Given the description of an element on the screen output the (x, y) to click on. 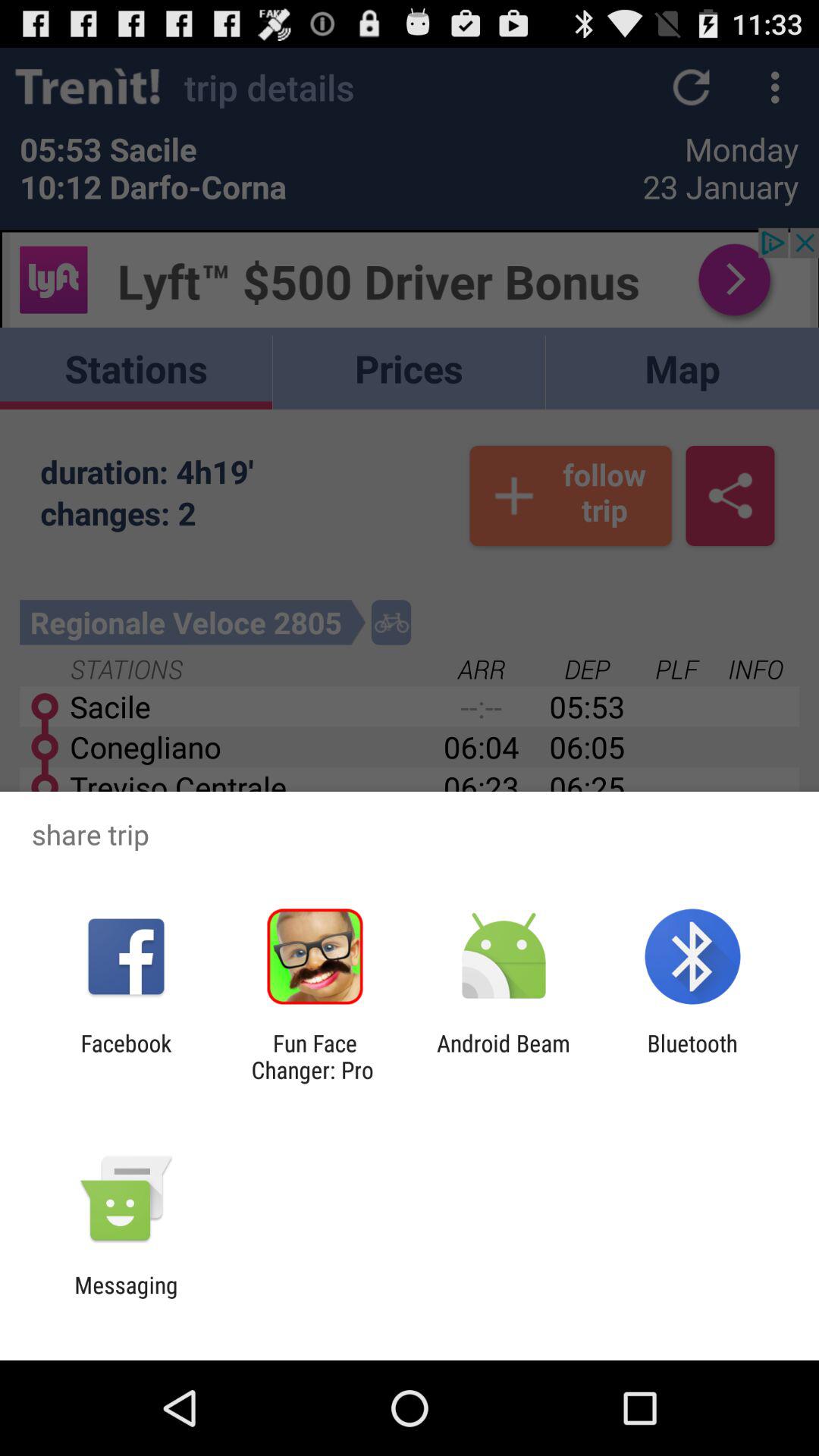
turn off item next to android beam app (314, 1056)
